Given the description of an element on the screen output the (x, y) to click on. 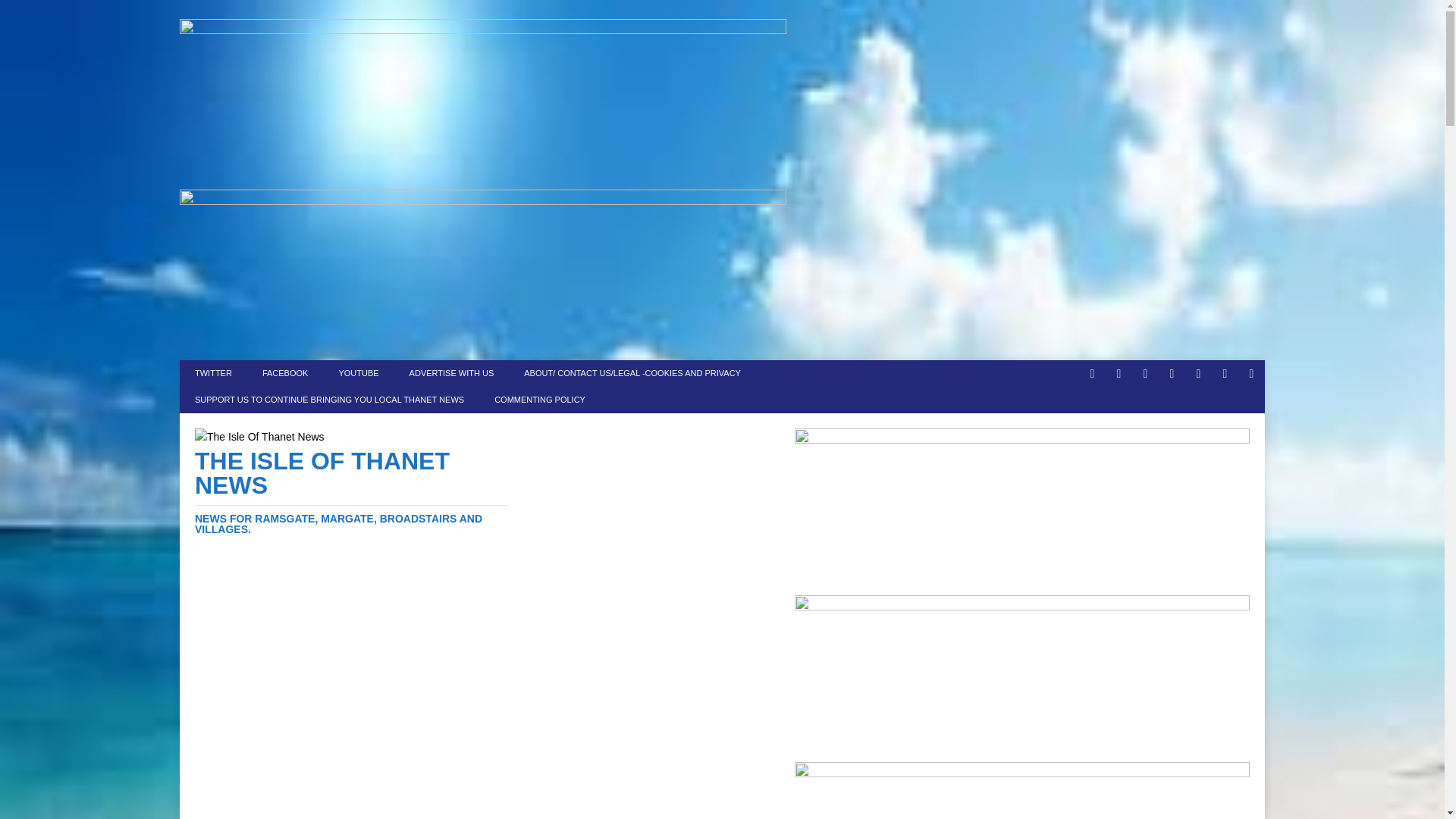
COMMENTING POLICY (539, 399)
YOUTUBE (358, 373)
SUPPORT US TO CONTINUE BRINGING YOU LOCAL THANET NEWS (329, 399)
TWITTER (213, 373)
ADVERTISE WITH US (451, 373)
The Isle Of Thanet News (351, 491)
FACEBOOK (285, 373)
